Given the description of an element on the screen output the (x, y) to click on. 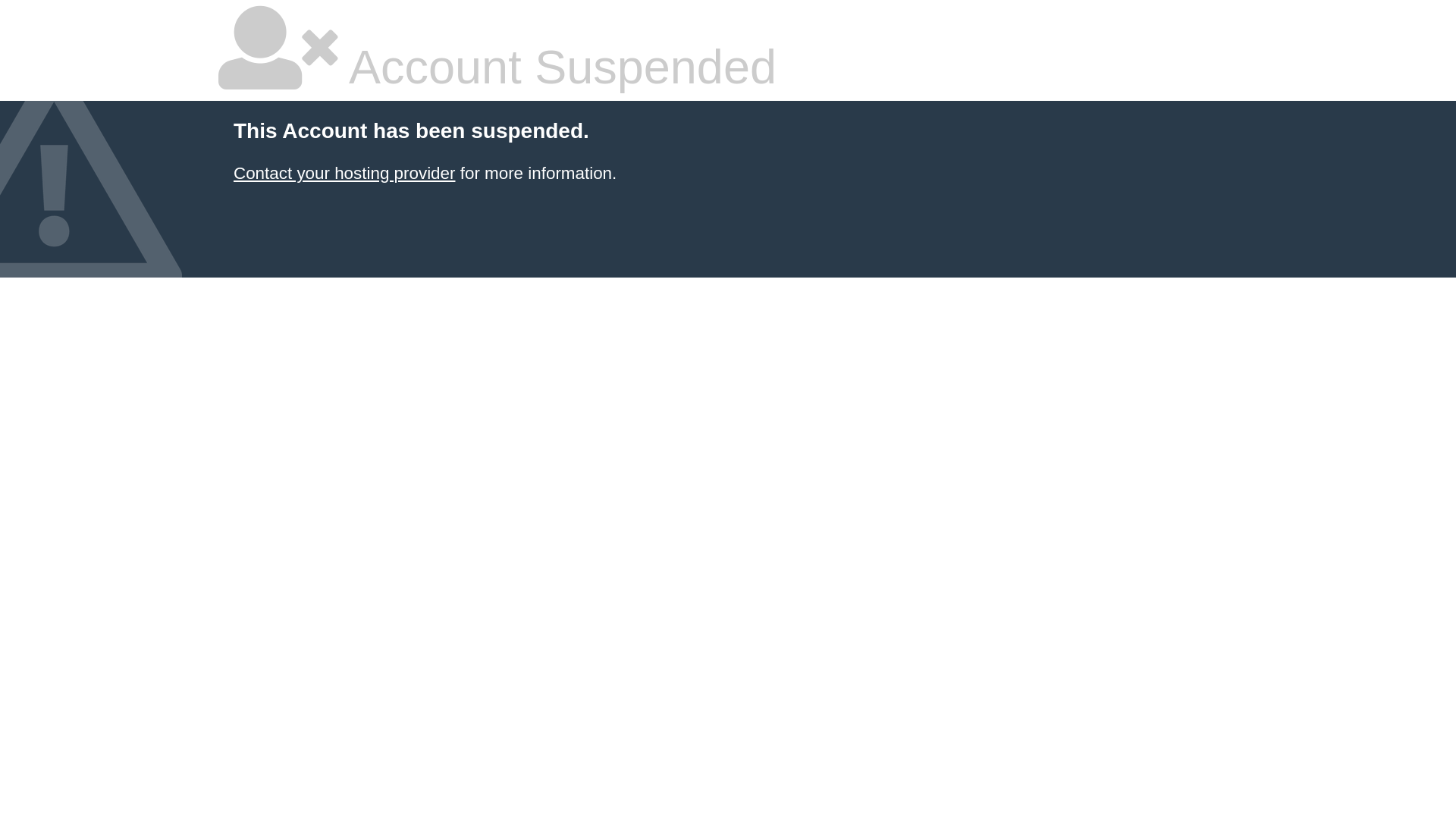
Contact your hosting provider Element type: text (344, 172)
